Given the description of an element on the screen output the (x, y) to click on. 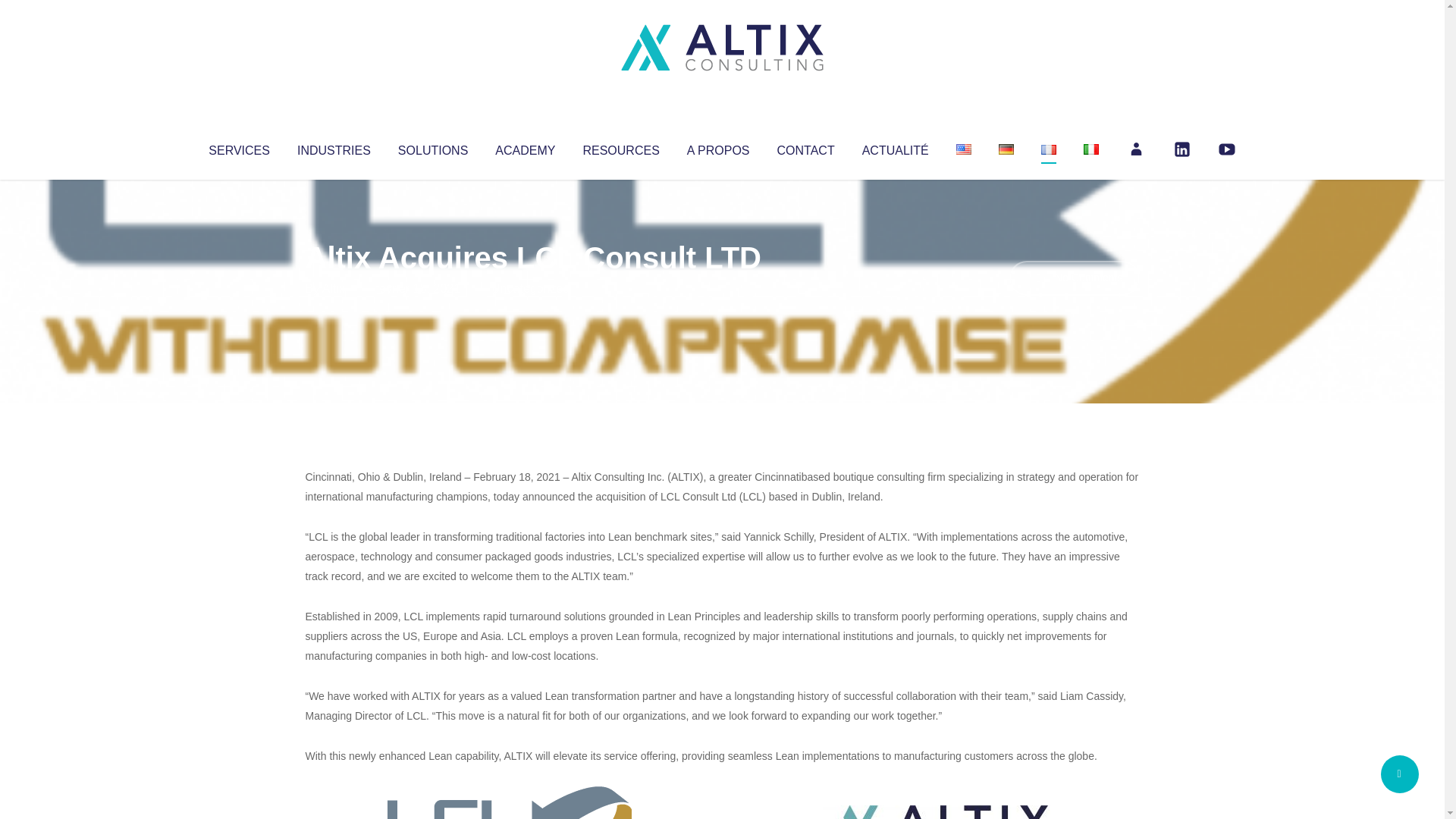
RESOURCES (620, 146)
No Comments (1073, 278)
SOLUTIONS (432, 146)
Articles par Altix (333, 287)
Altix (333, 287)
Uncategorized (530, 287)
ACADEMY (524, 146)
INDUSTRIES (334, 146)
A PROPOS (718, 146)
SERVICES (238, 146)
